Given the description of an element on the screen output the (x, y) to click on. 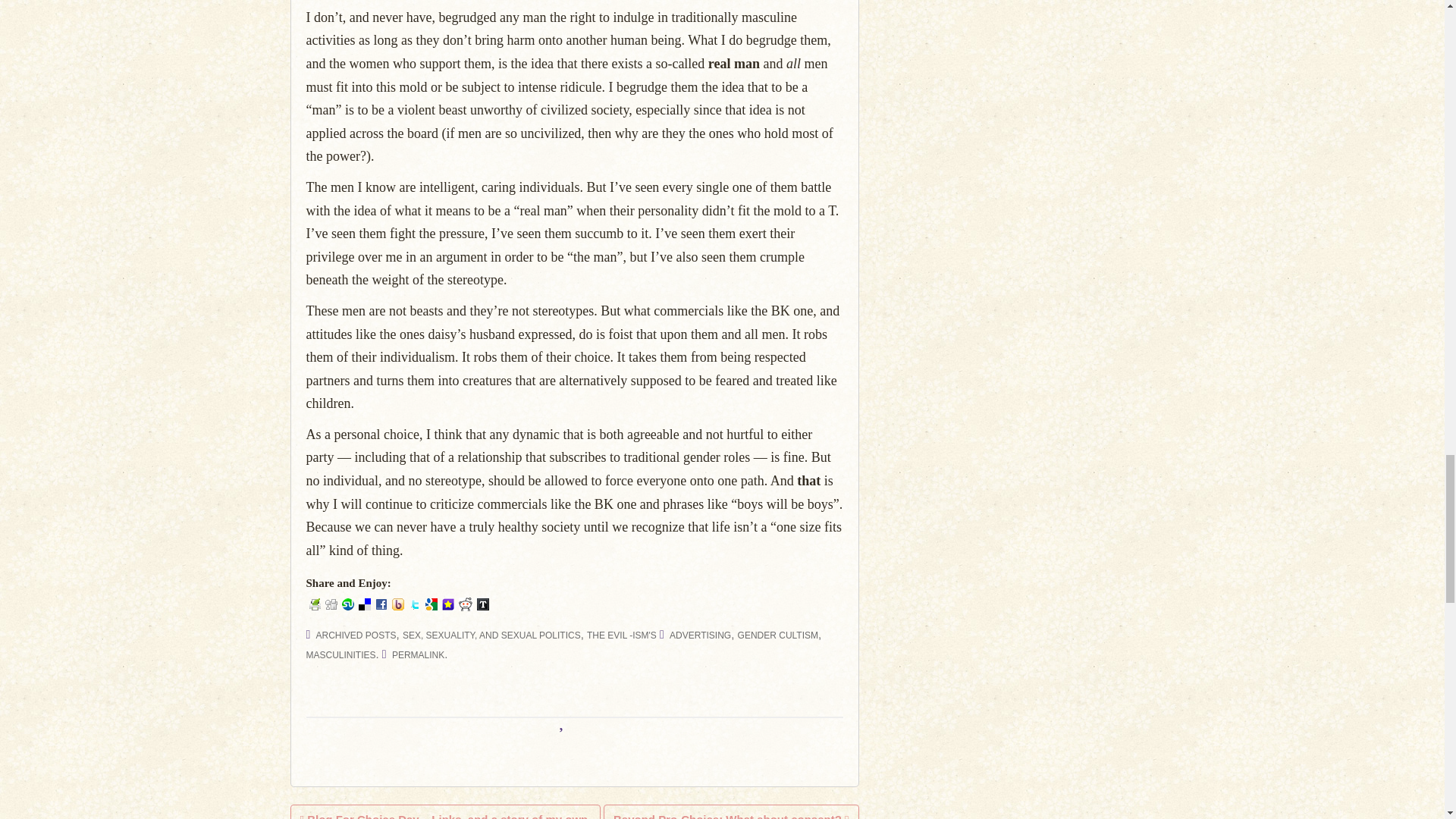
ADVERTISING (699, 634)
StumbleUpon (347, 604)
Yahoo! Buzz (397, 604)
THE EVIL -ISM'S (621, 634)
Twitter (414, 604)
del.icio.us (363, 604)
Reddit (465, 603)
Add to favorites (446, 603)
PERMALINK (417, 655)
GENDER CULTISM (778, 634)
